Given the description of an element on the screen output the (x, y) to click on. 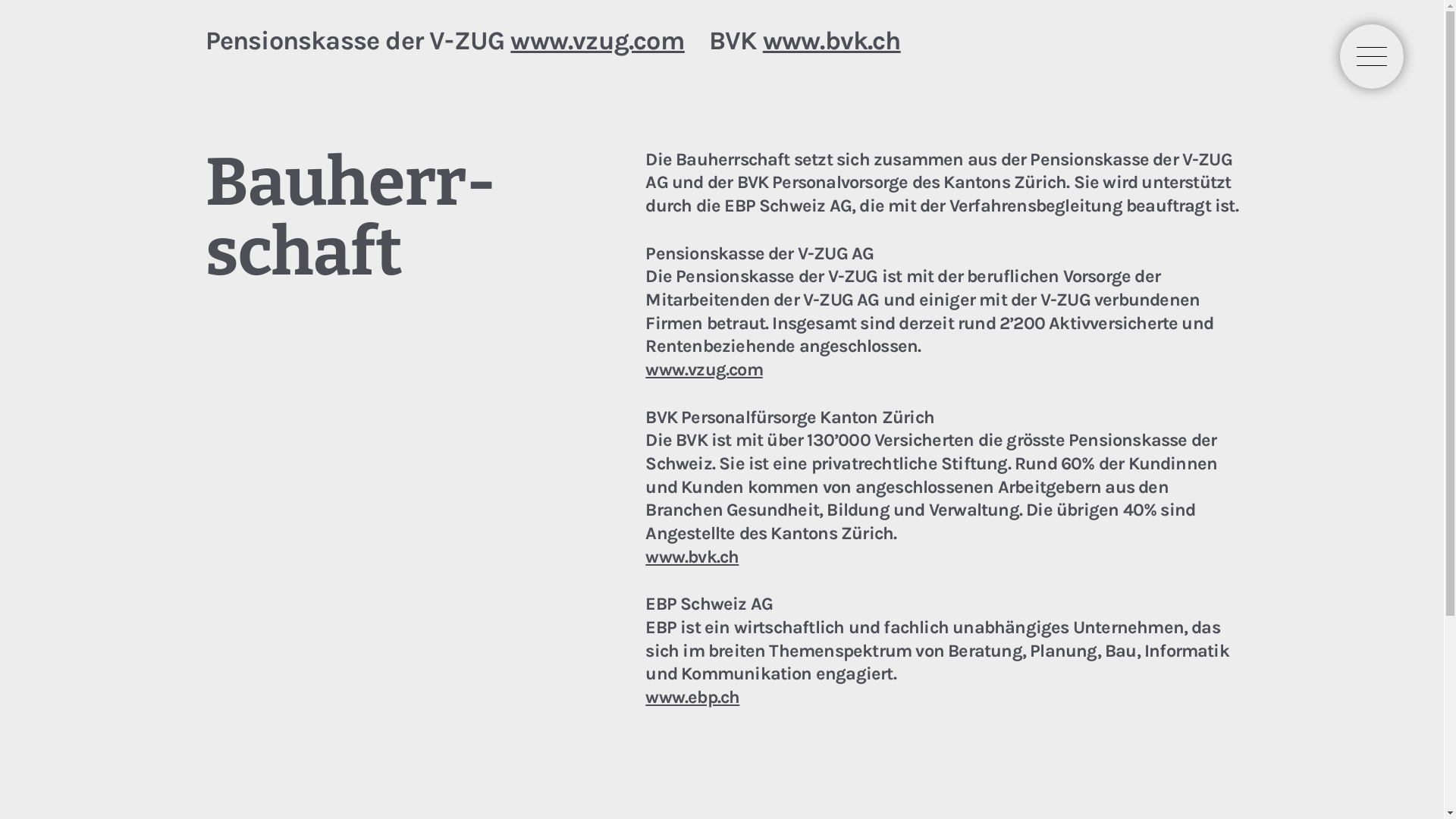
www.vzug.com Element type: text (597, 40)
www.bvk.ch Element type: text (831, 40)
www.ebp.ch Element type: text (692, 696)
www.vzug.com Element type: text (703, 368)
www.bvk.ch Element type: text (691, 556)
